Given the description of an element on the screen output the (x, y) to click on. 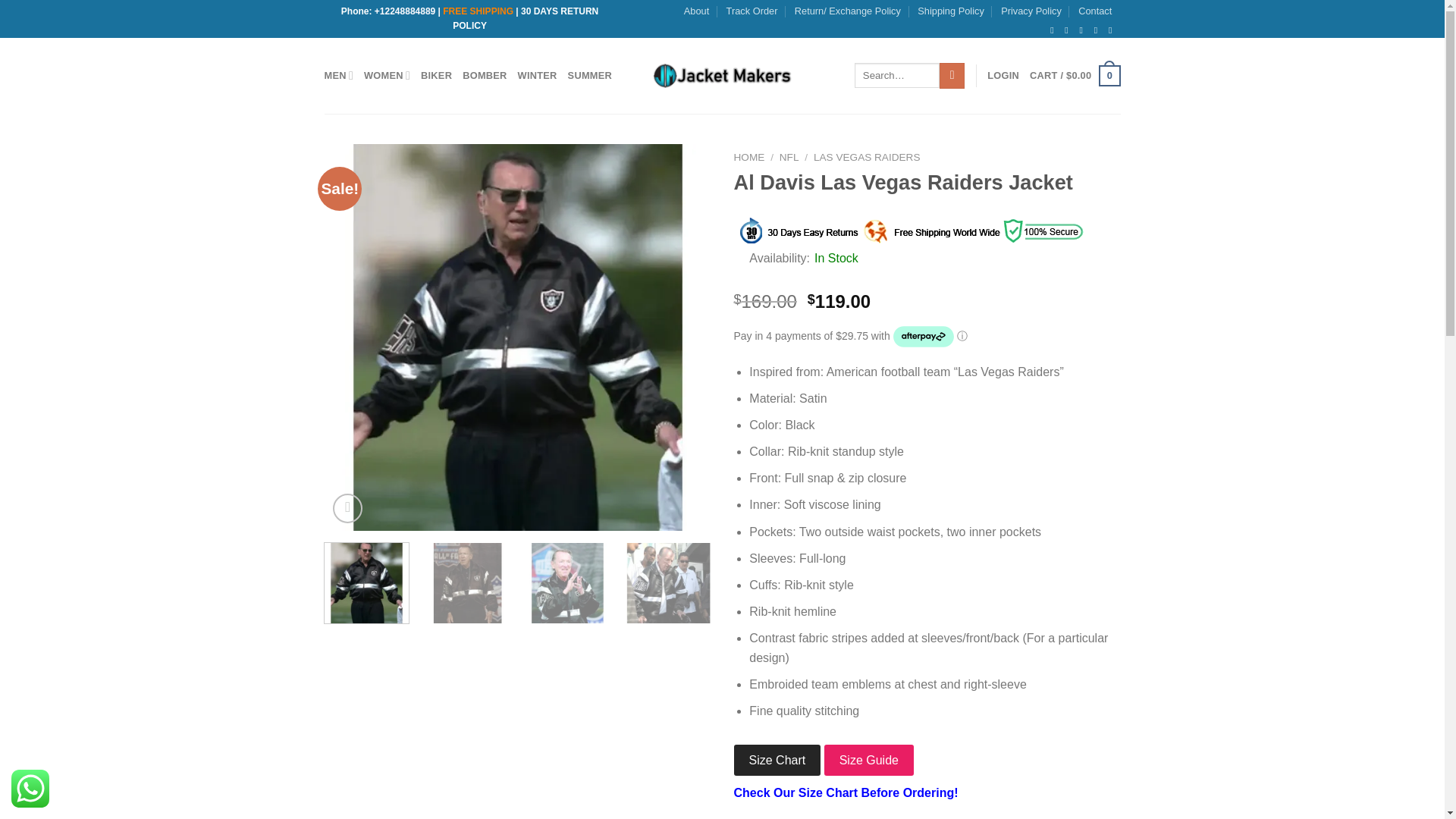
Cart (1074, 75)
MEN (338, 75)
About (696, 11)
Contact (1095, 11)
Privacy Policy (1031, 11)
Afterpay (923, 336)
Track Order (751, 11)
Shipping Policy (950, 11)
